Given the description of an element on the screen output the (x, y) to click on. 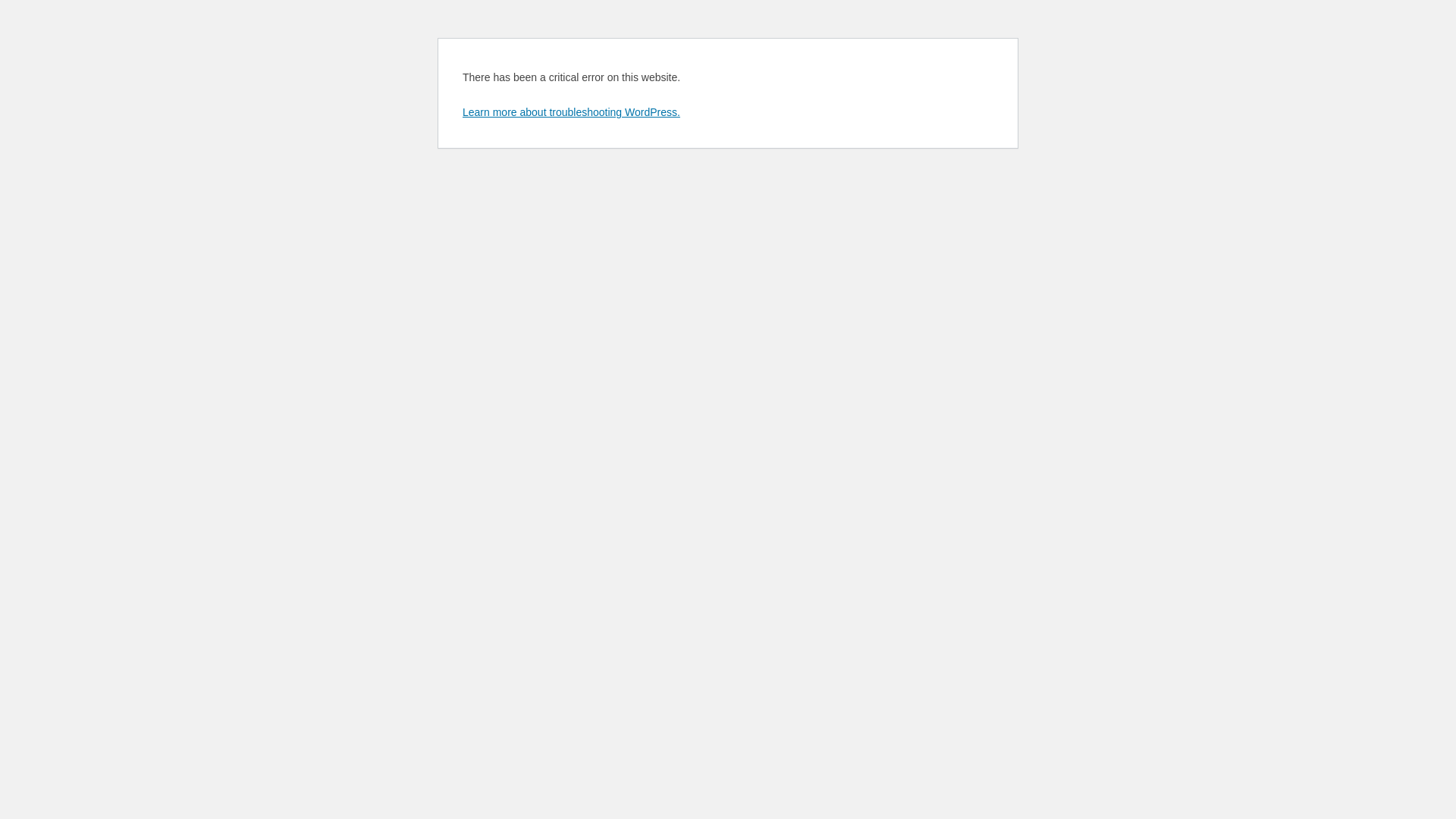
Learn more about troubleshooting WordPress. Element type: text (571, 112)
